Given the description of an element on the screen output the (x, y) to click on. 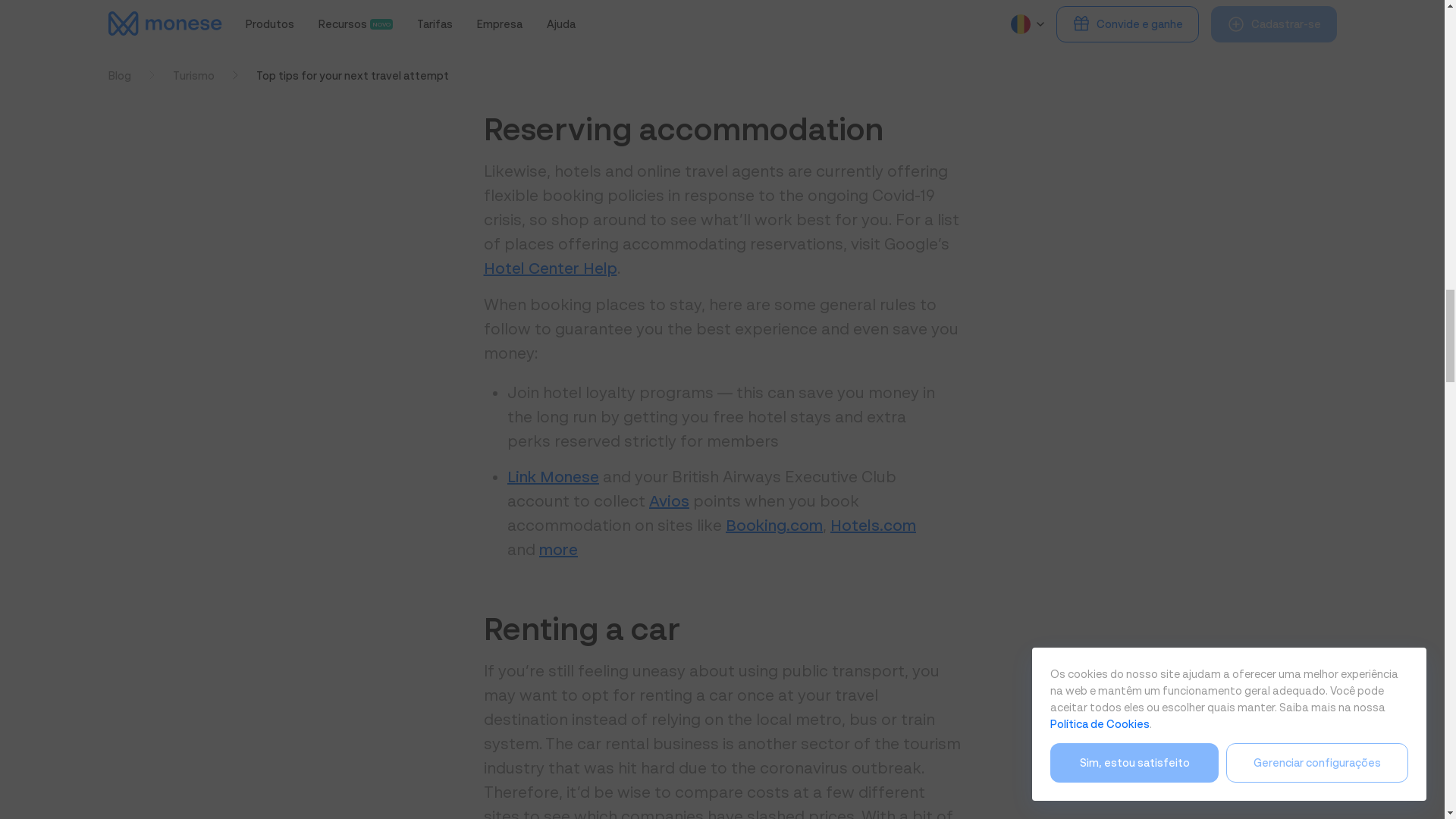
Flexible policies for hotel reservations (550, 267)
Collect Avios with Booking.com UK (773, 524)
British Airways (558, 548)
Monese with Avios (552, 476)
Collect Avios with Hotels.com UK (872, 524)
